Given the description of an element on the screen output the (x, y) to click on. 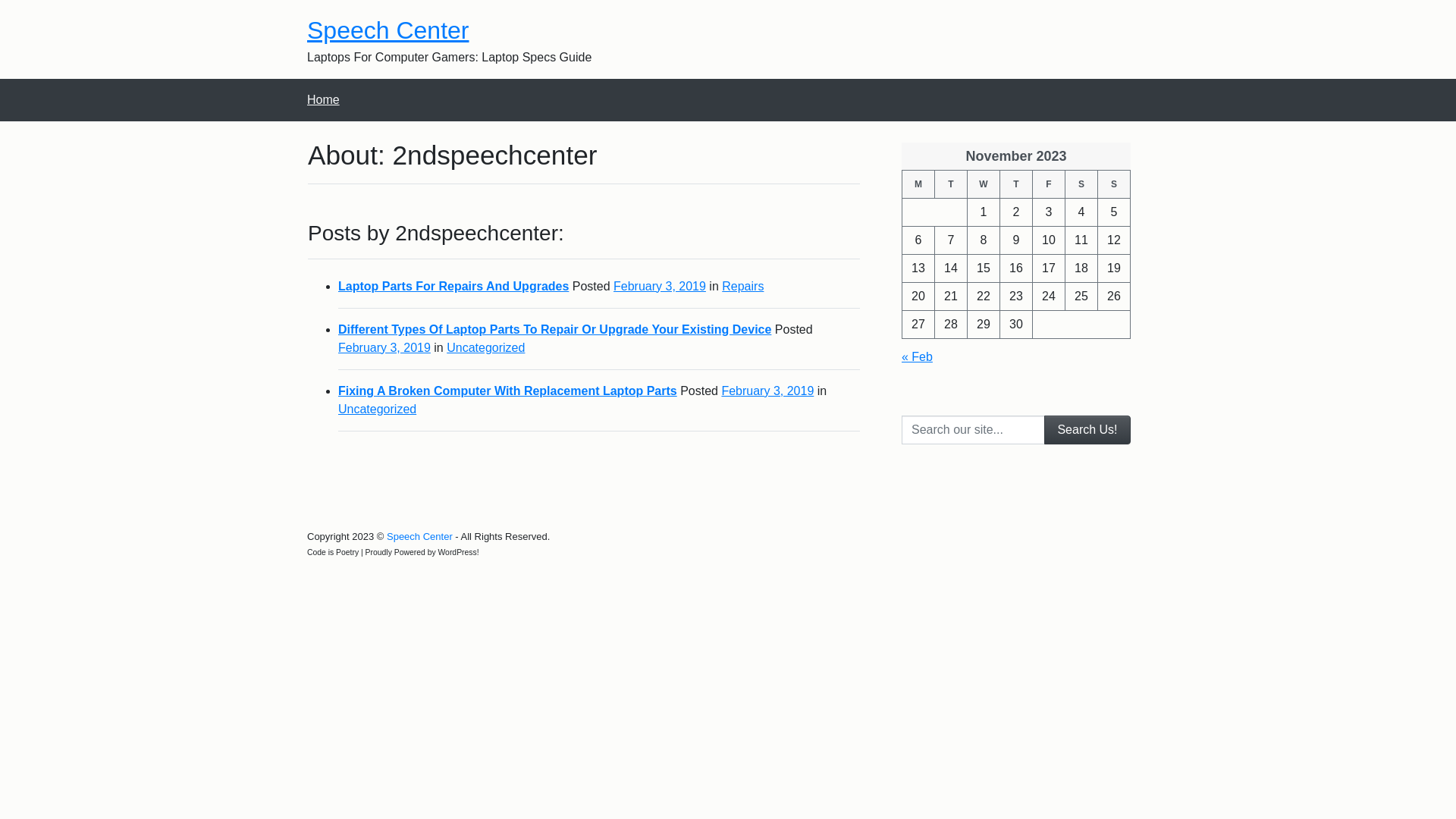
Repairs Element type: text (742, 285)
Uncategorized Element type: text (485, 347)
Speech Center Element type: text (419, 536)
Home Element type: text (323, 99)
Speech Center Element type: text (387, 29)
February 3, 2019 Element type: text (767, 390)
 Search Us!  Element type: text (1087, 429)
Laptop Parts For Repairs And Upgrades Element type: text (453, 285)
Uncategorized Element type: text (377, 408)
February 3, 2019 Element type: text (384, 347)
Fixing A Broken Computer With Replacement Laptop Parts Element type: text (507, 390)
February 3, 2019 Element type: text (659, 285)
